Given the description of an element on the screen output the (x, y) to click on. 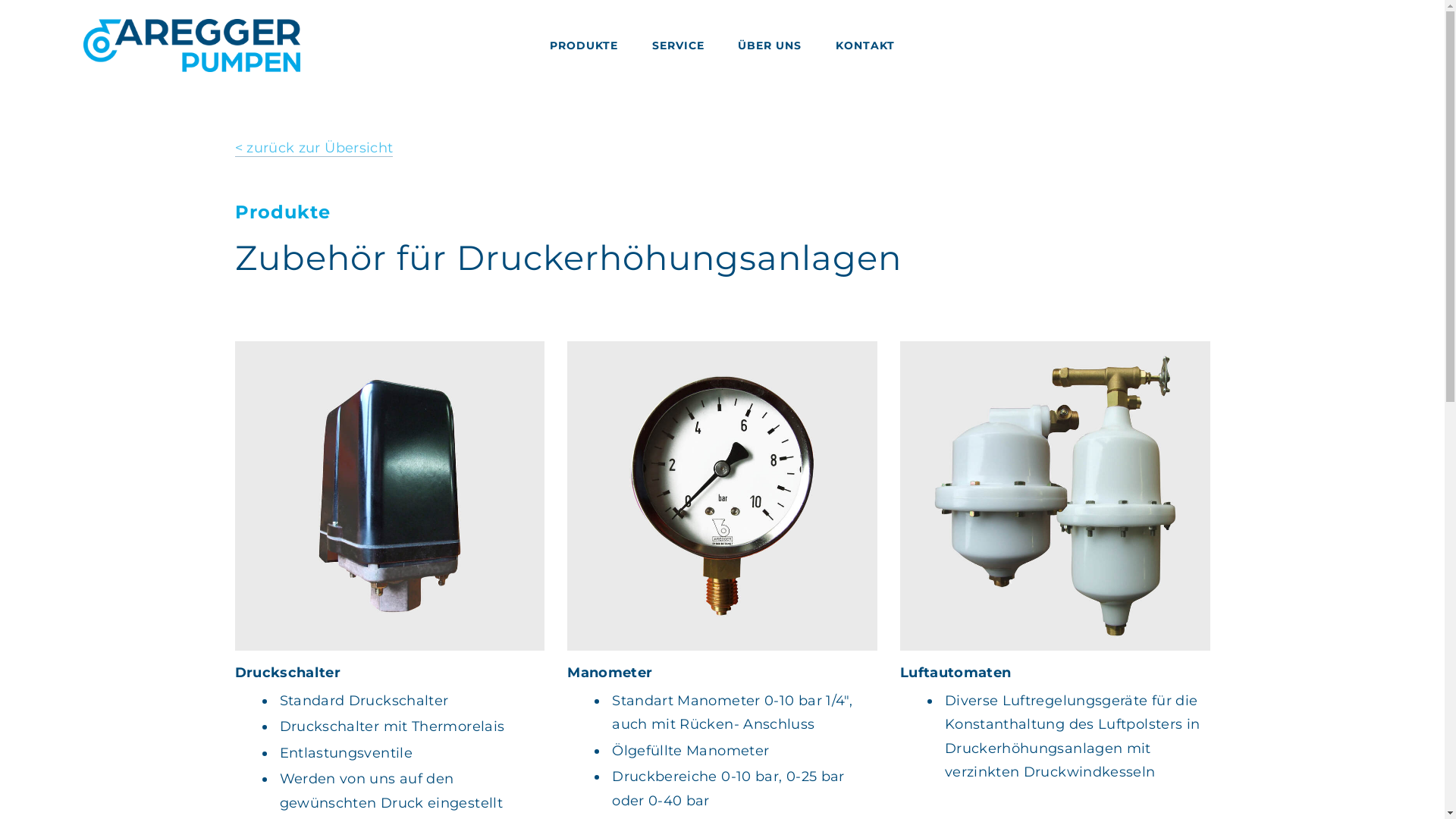
KONTAKT Element type: text (865, 45)
SERVICE Element type: text (678, 45)
PRODUKTE Element type: text (583, 45)
